Given the description of an element on the screen output the (x, y) to click on. 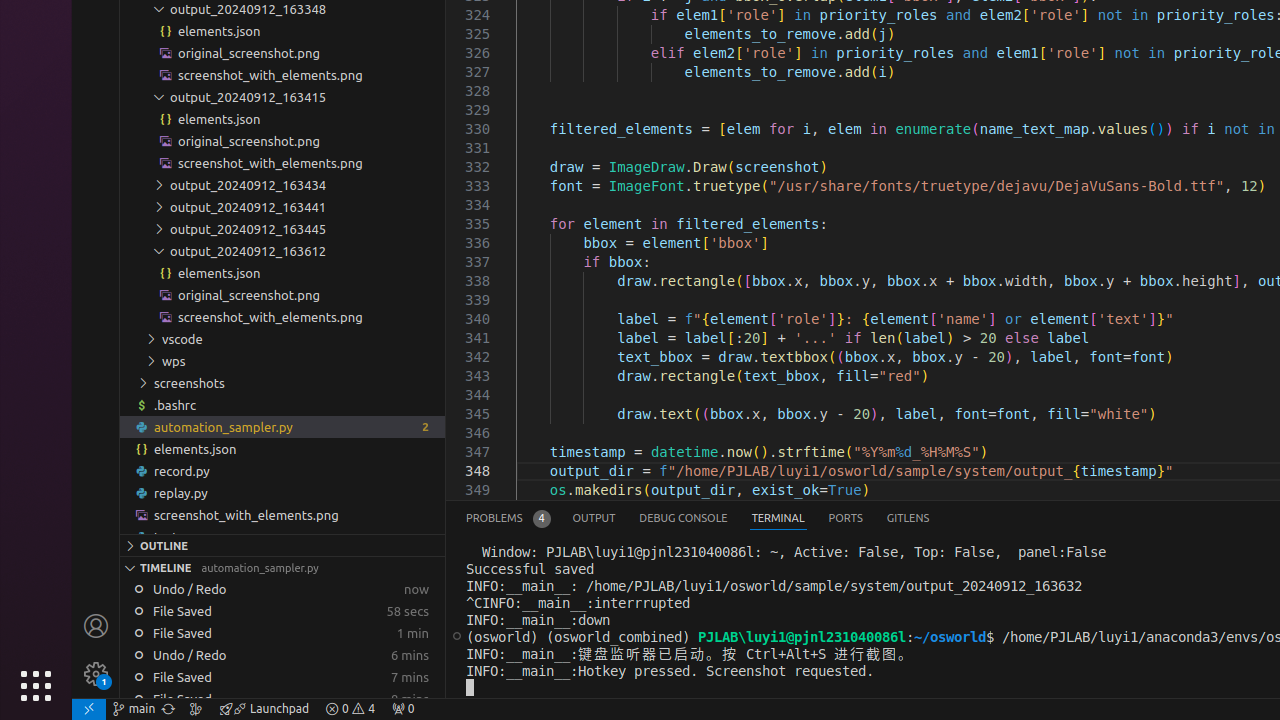
test.py Element type: tree-item (282, 537)
7 minutes: File Saved Element type: tree-item (282, 677)
output_20240912_163415 Element type: tree-item (282, 97)
output_20240912_163441 Element type: tree-item (282, 206)
Warnings: 4 Element type: push-button (350, 709)
